Given the description of an element on the screen output the (x, y) to click on. 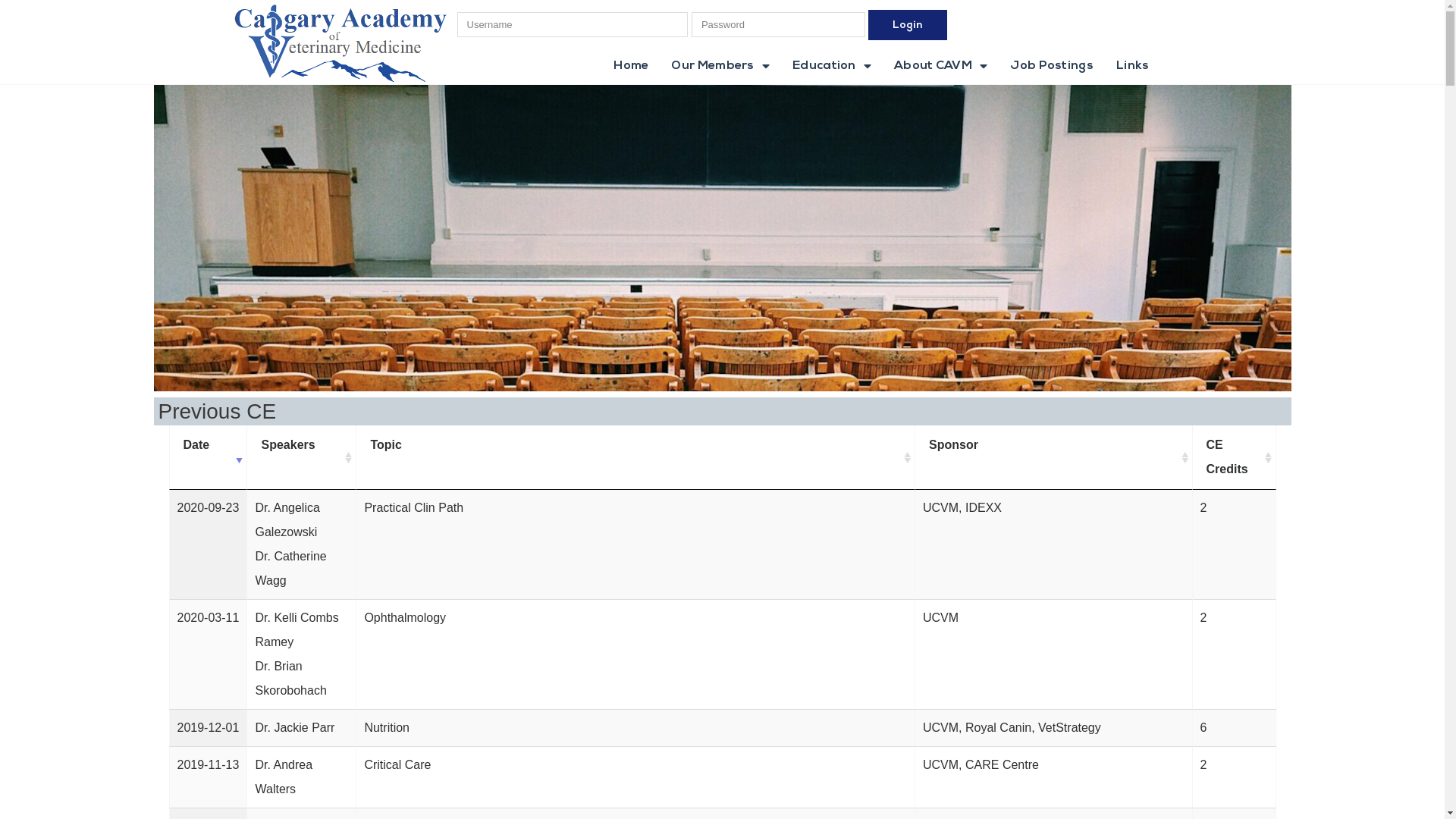
About CAVM Element type: text (940, 66)
> Element type: text (234, 100)
< Element type: text (27, 100)
Home Element type: text (630, 66)
Links Element type: text (1132, 66)
Login Element type: text (907, 24)
Education Element type: text (831, 66)
Our Members Element type: text (720, 66)
Job Postings Element type: text (1051, 66)
